Given the description of an element on the screen output the (x, y) to click on. 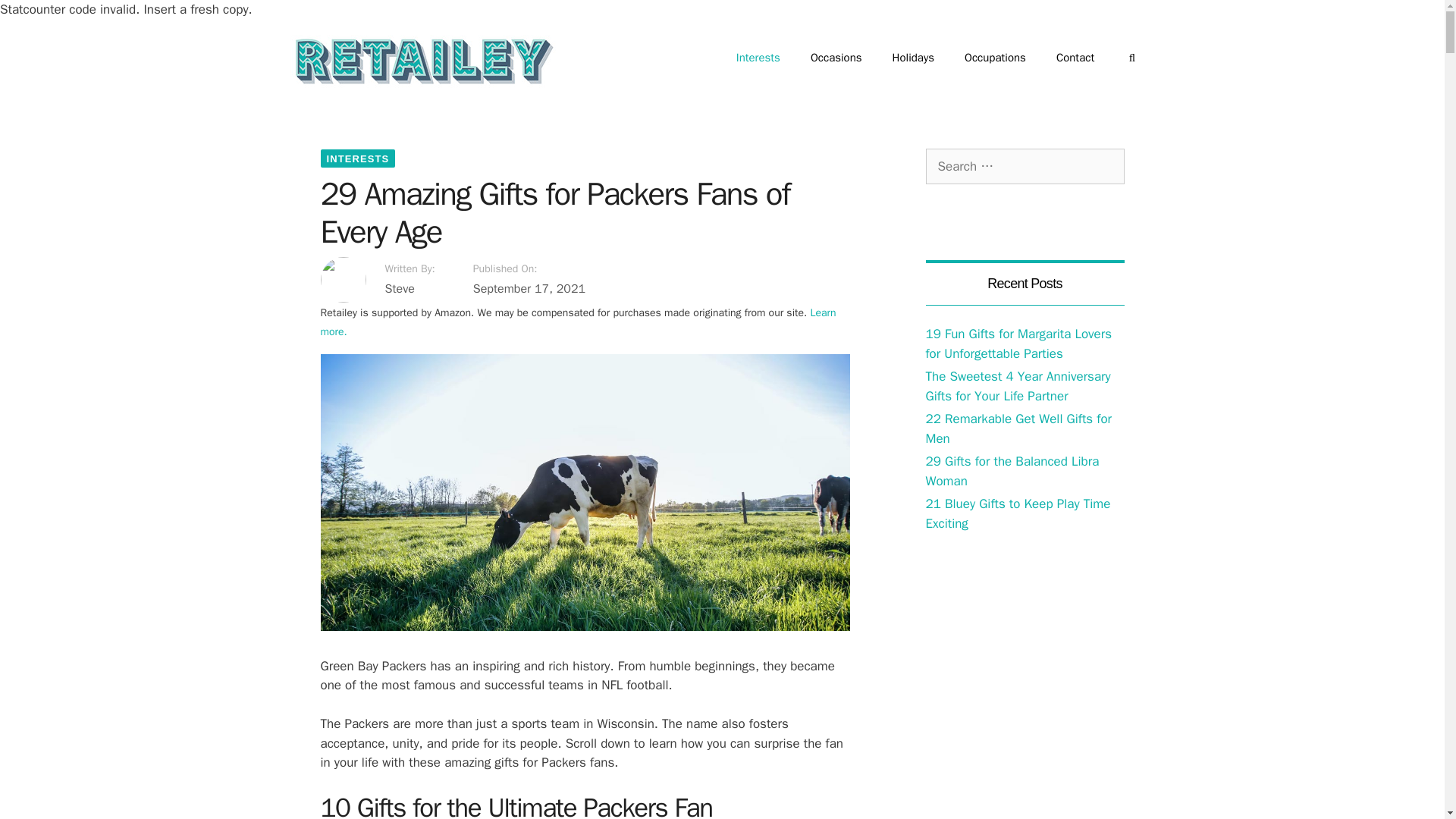
19 Fun Gifts for Margarita Lovers for Unforgettable Parties (1018, 343)
INTERESTS (357, 158)
Interests (357, 158)
29 Gifts for the Balanced Libra Woman (1011, 470)
Retailey (421, 61)
Learn more. (577, 322)
Holidays (913, 57)
Contact (1075, 57)
22 Remarkable Get Well Gifts for Men (1018, 428)
Retailey (421, 59)
Occupations (995, 57)
Search for: (1024, 166)
Occasions (835, 57)
Steve (410, 289)
Search (35, 18)
